Given the description of an element on the screen output the (x, y) to click on. 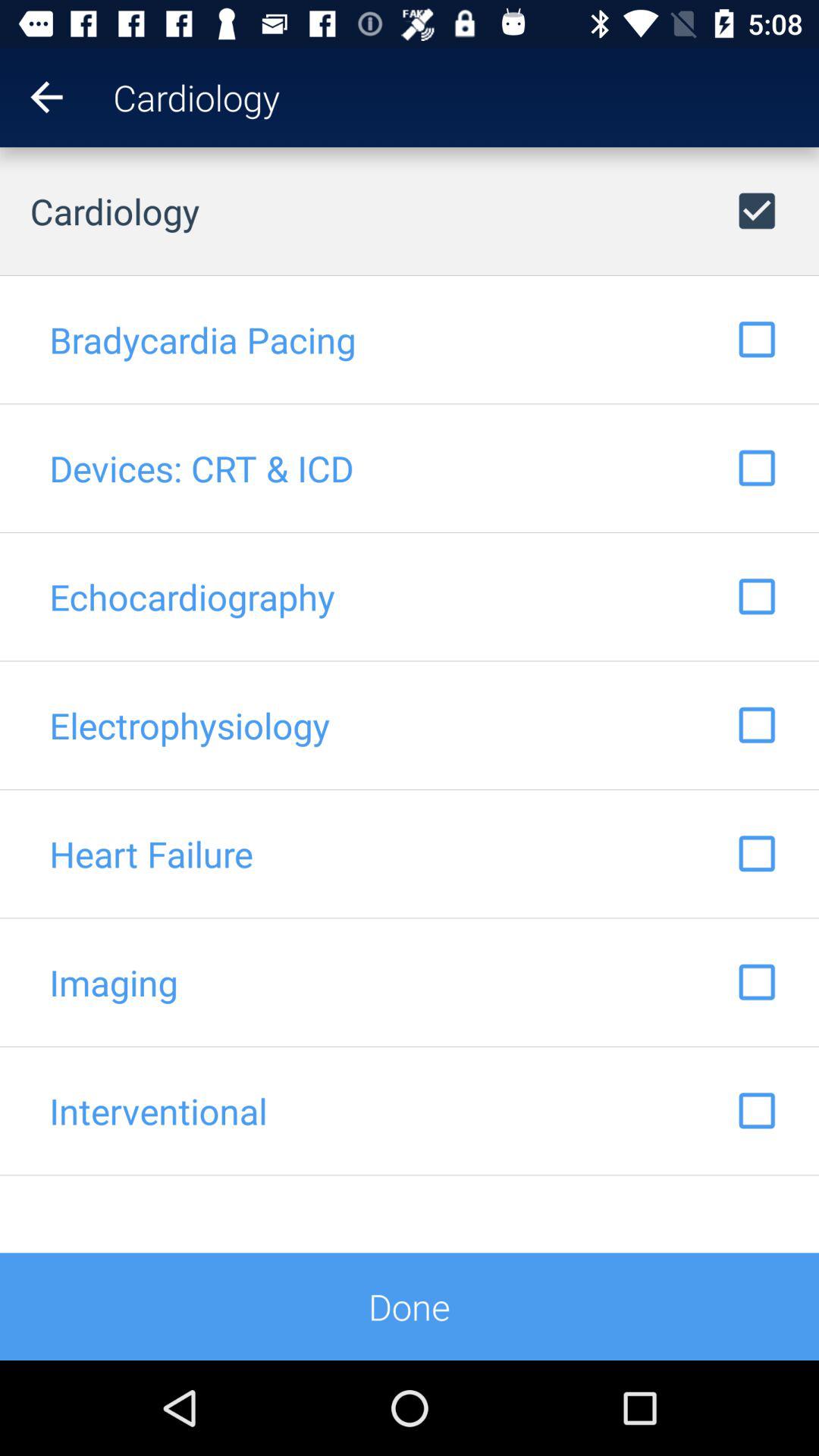
turn on item at the top left corner (31, 97)
